Given the description of an element on the screen output the (x, y) to click on. 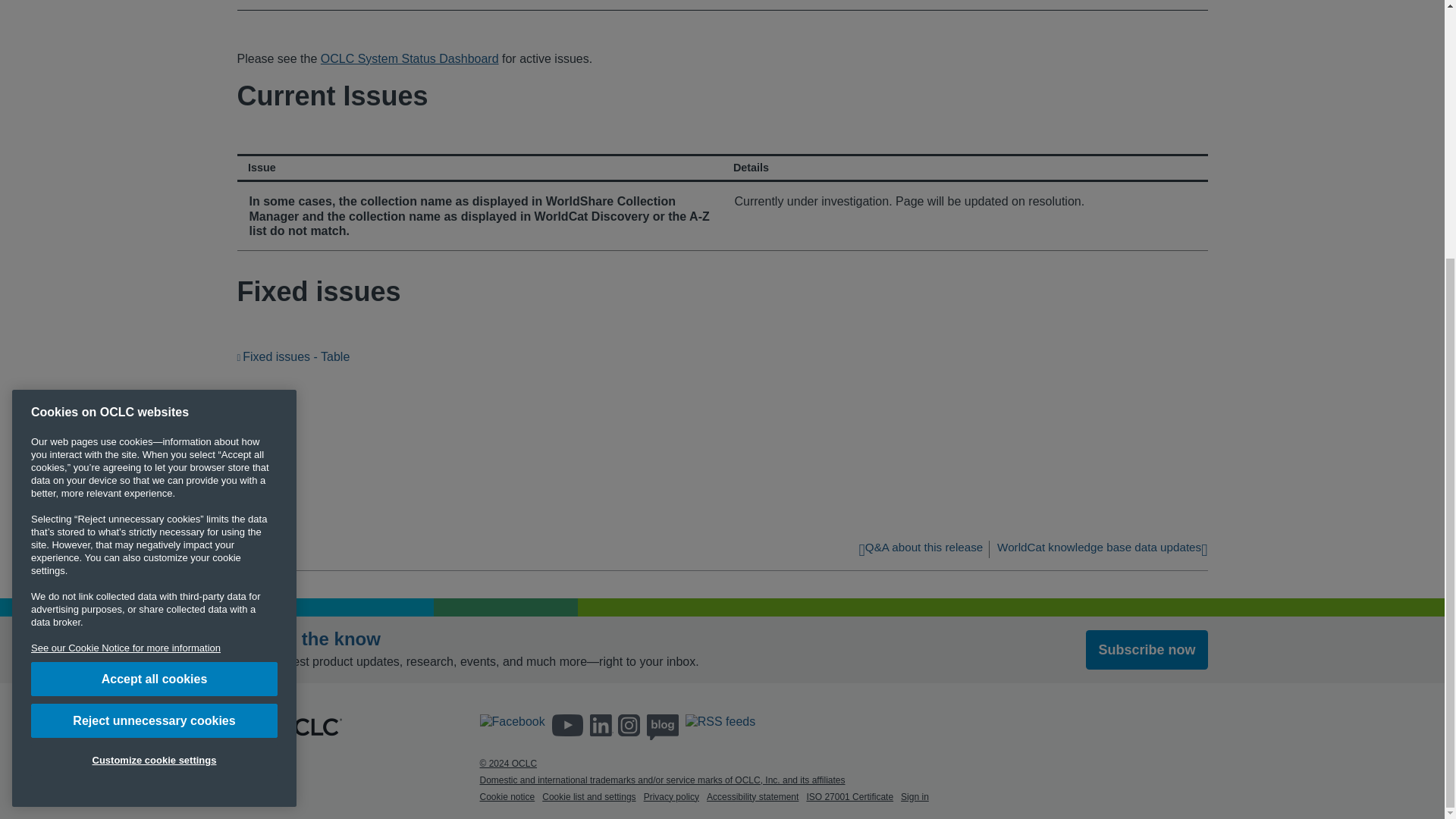
WorldCat knowledge base data updates (1102, 549)
OCLC System Status Dashboard (409, 58)
WorldCat knowledge base data updates (1102, 549)
